Given the description of an element on the screen output the (x, y) to click on. 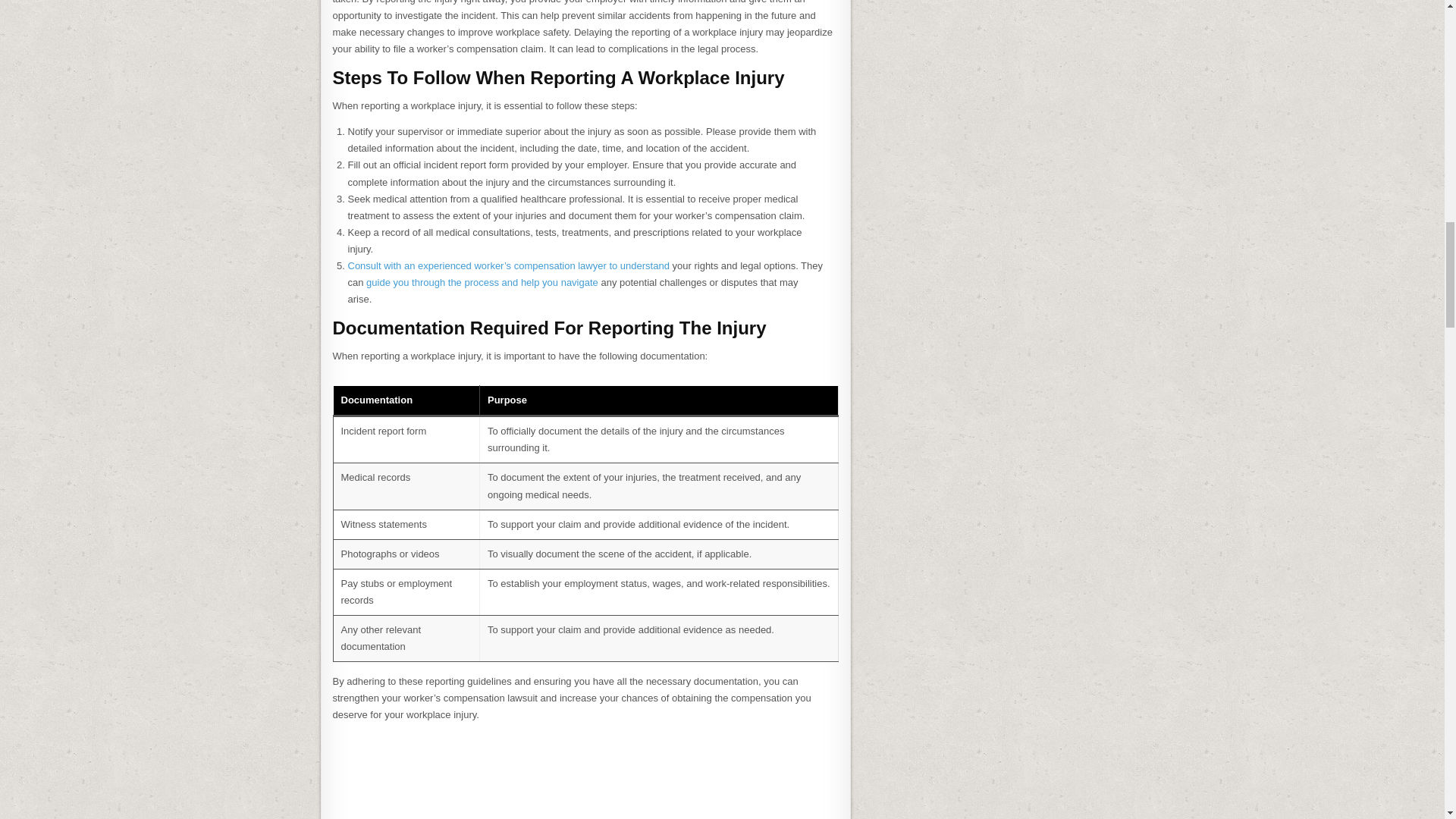
guide you through the process and help you navigate (482, 282)
